Given the description of an element on the screen output the (x, y) to click on. 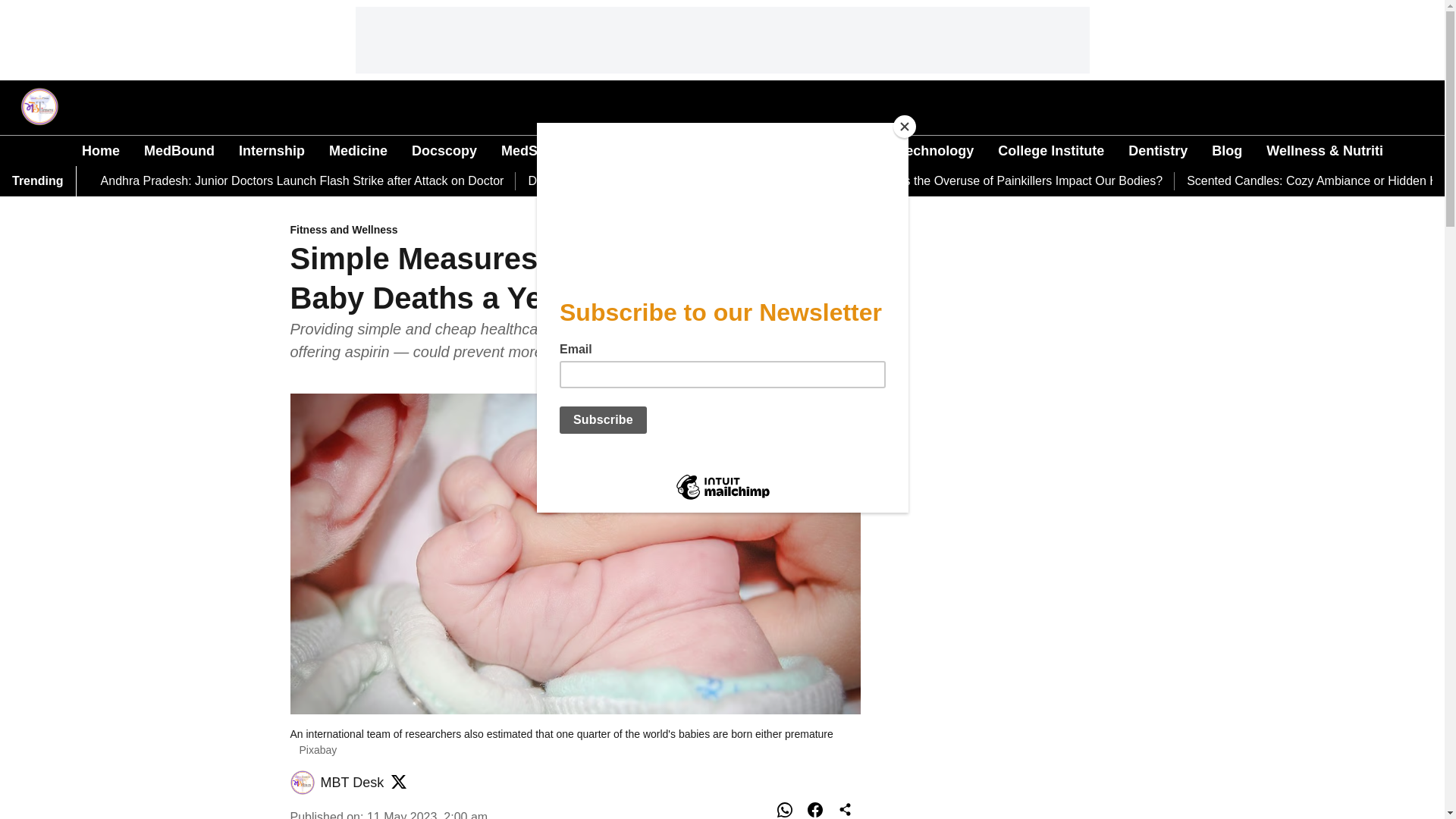
Physical Therapy (798, 150)
MedSight (531, 150)
Blog (1226, 150)
Internship (271, 150)
Medicine (358, 150)
Biotechnology (926, 150)
Pharmacy (684, 150)
2023-05-10 18:00 (426, 814)
Home (100, 150)
MedBound (179, 150)
3rd party ad content (722, 39)
College Institute (1050, 150)
Dentistry (1158, 150)
How Does the Overuse of Painkillers Impact Our Bodies? (1007, 180)
Forms (607, 150)
